Given the description of an element on the screen output the (x, y) to click on. 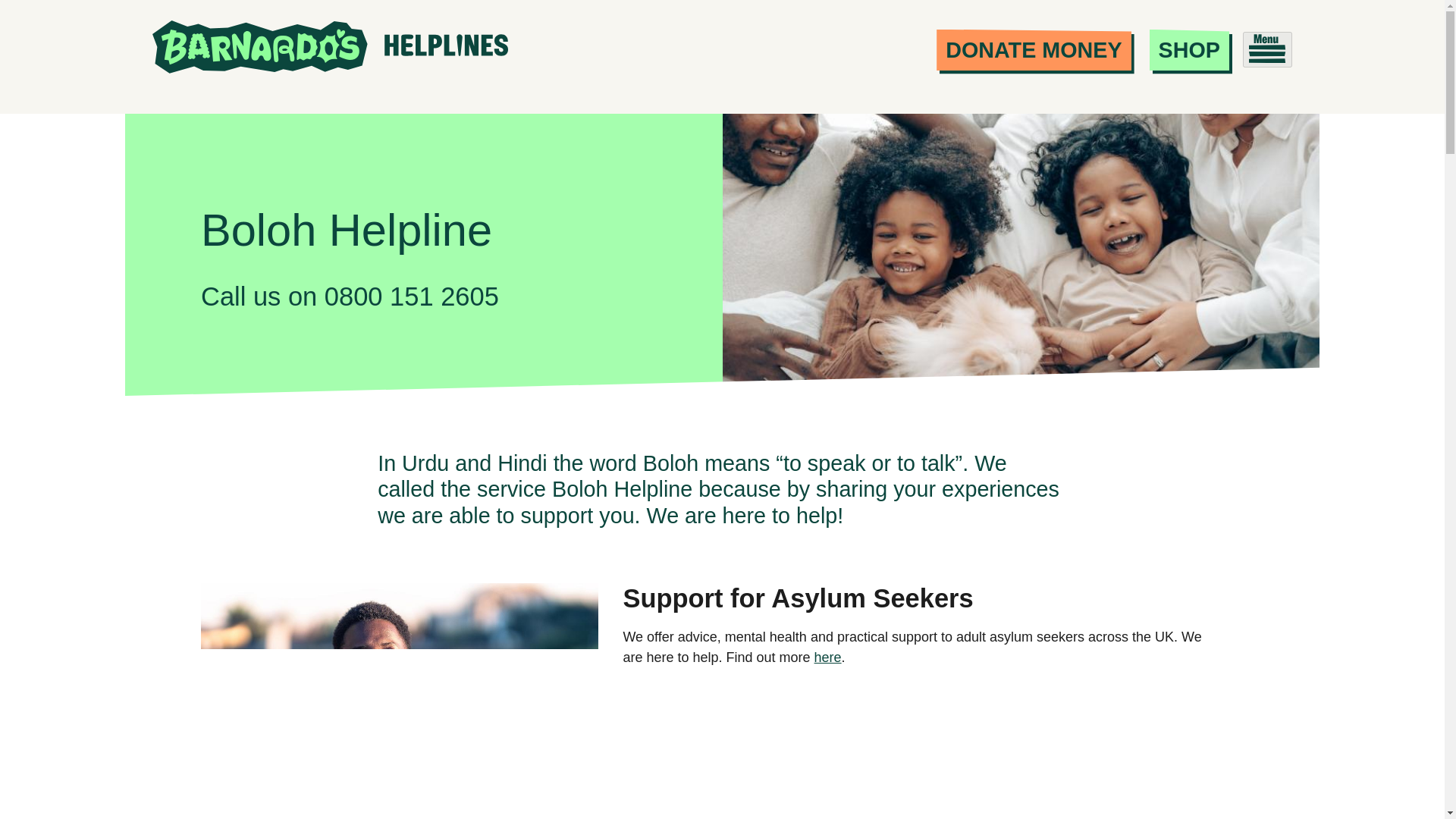
here (827, 656)
SHOP (1189, 49)
